Given the description of an element on the screen output the (x, y) to click on. 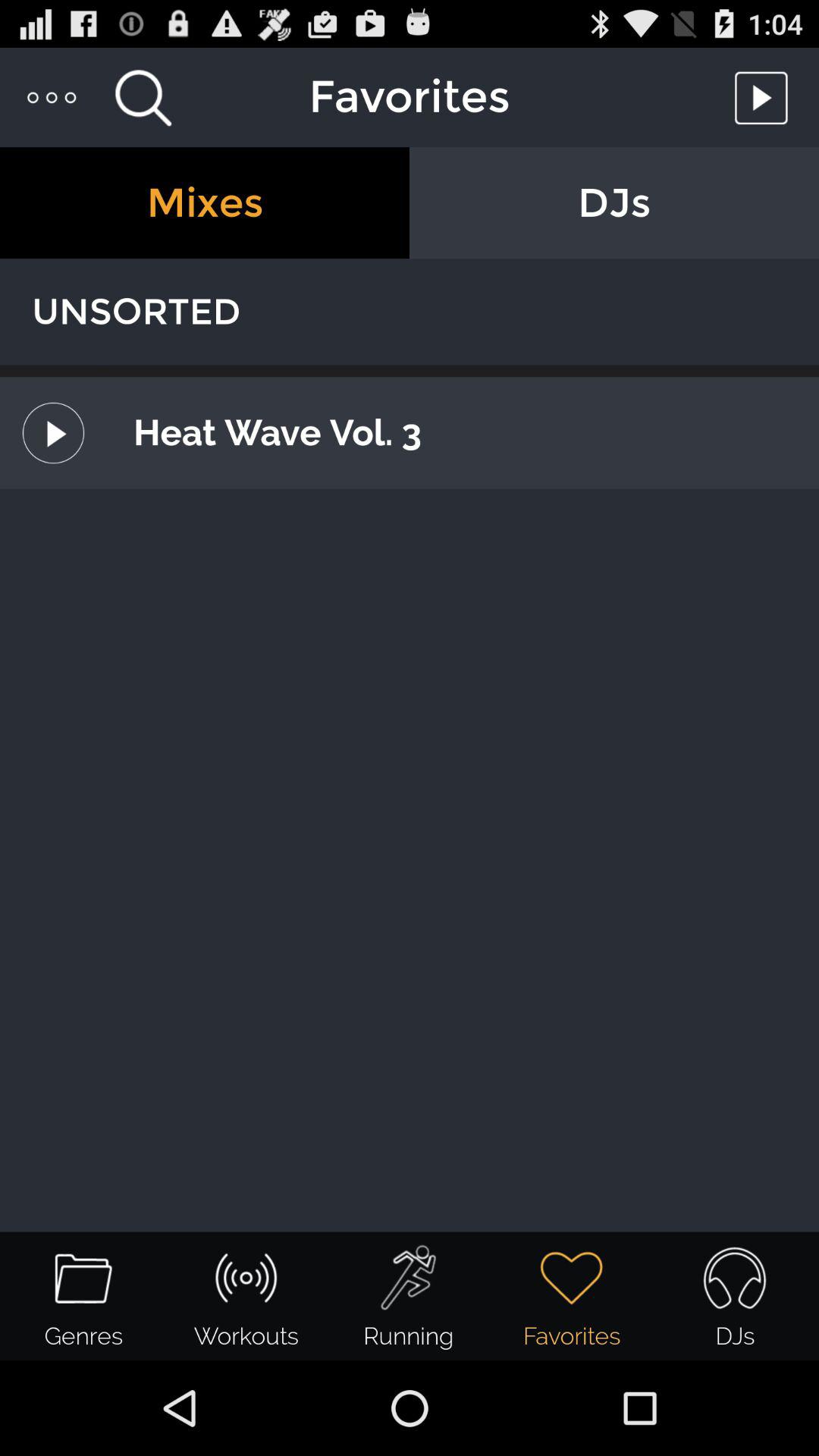
more options (52, 97)
